Given the description of an element on the screen output the (x, y) to click on. 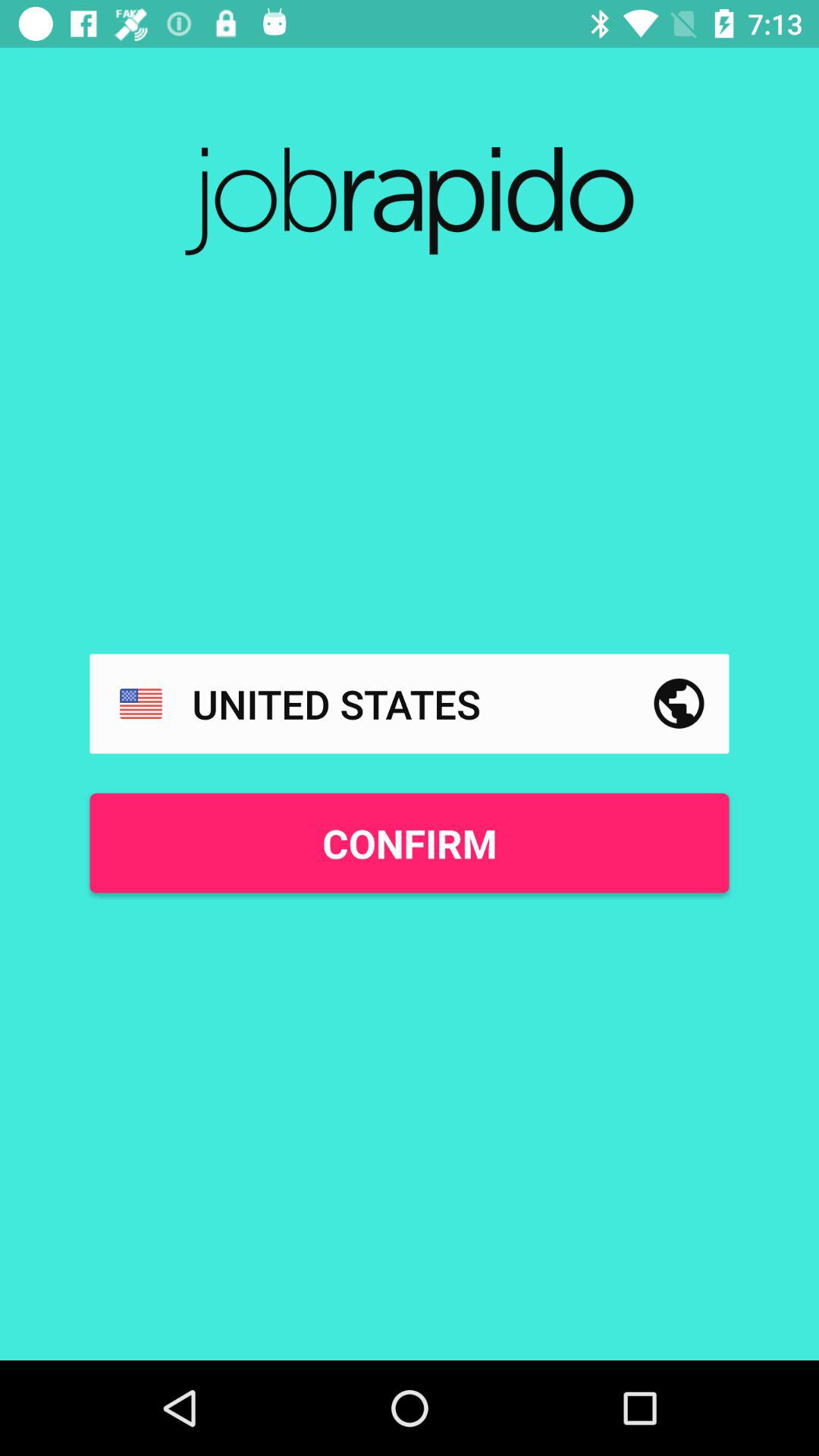
flip to confirm (409, 842)
